Given the description of an element on the screen output the (x, y) to click on. 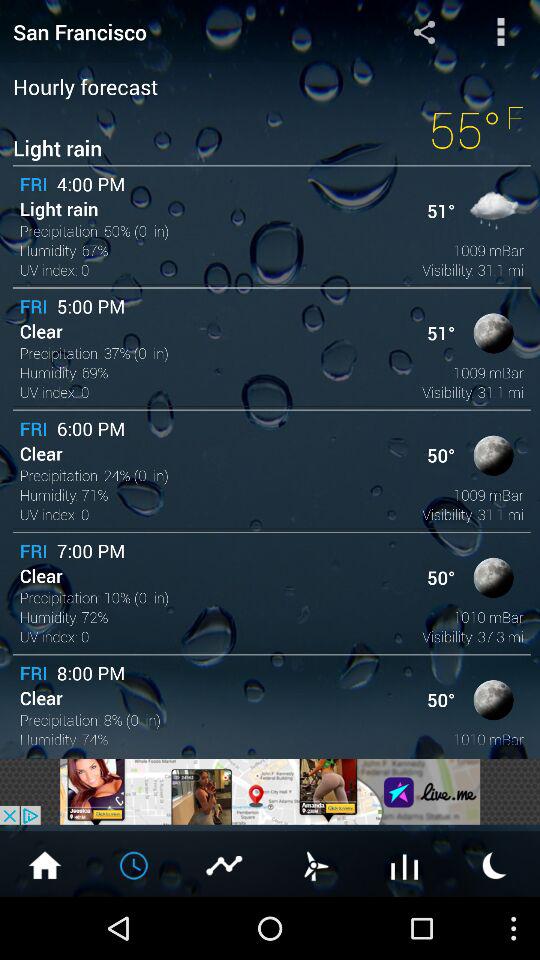
set timer (315, 864)
